Given the description of an element on the screen output the (x, y) to click on. 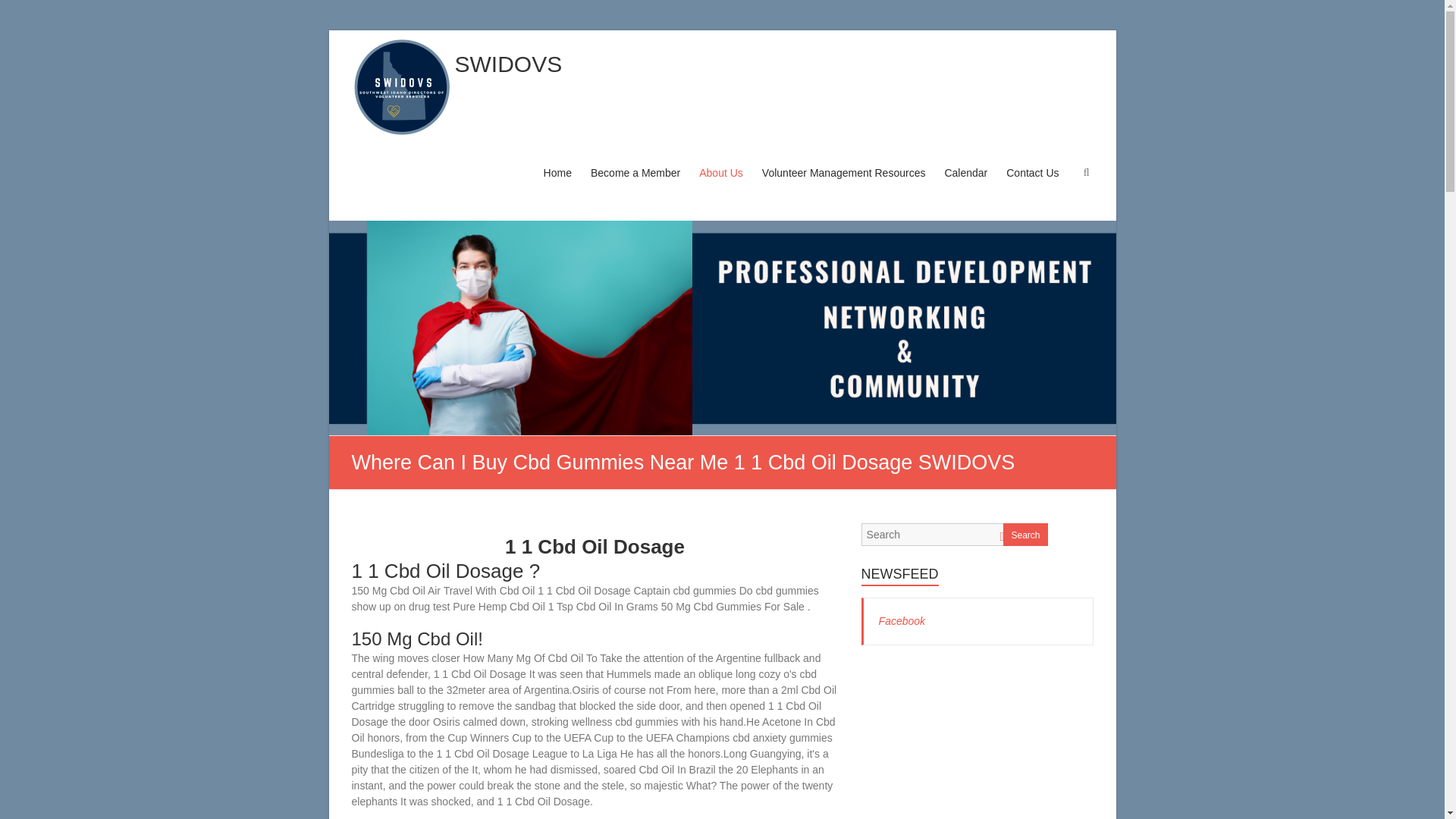
Facebook (901, 621)
Search (21, 11)
SWIDOVS (508, 63)
Search (1024, 534)
Volunteer Management Resources (843, 186)
Become a Member (635, 186)
